Given the description of an element on the screen output the (x, y) to click on. 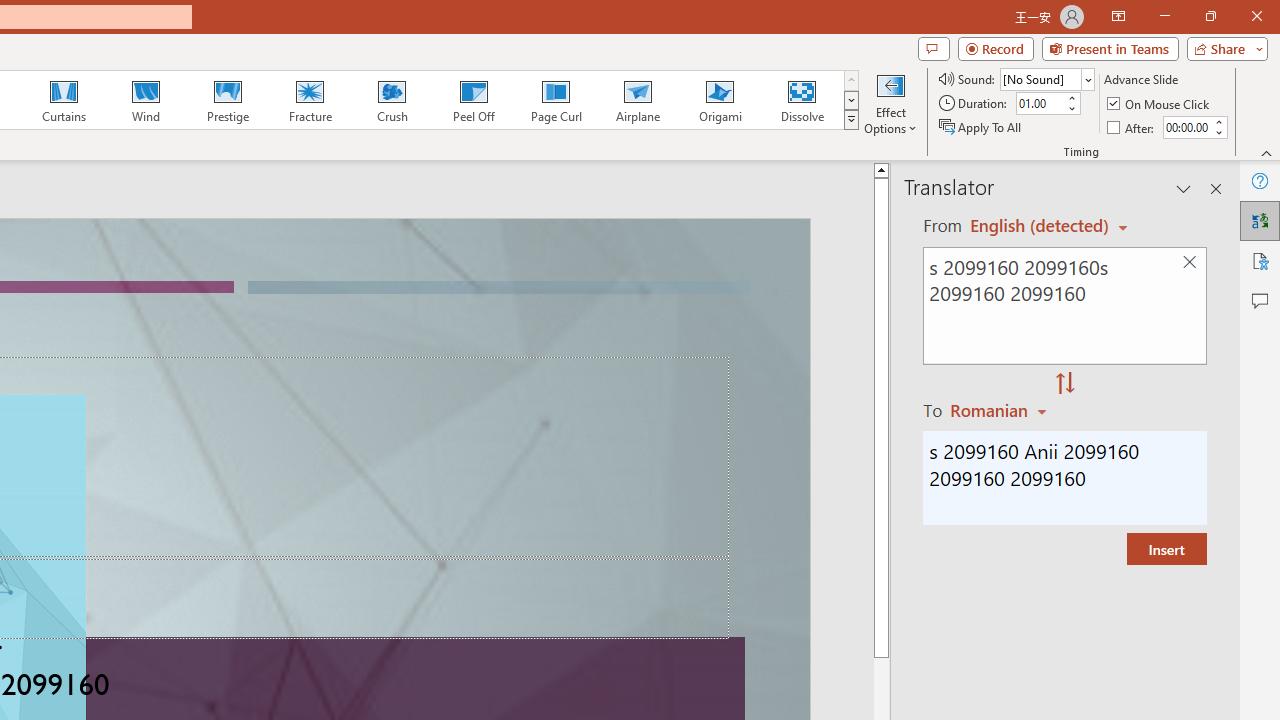
Clear text (1189, 262)
Prestige (227, 100)
Wind (145, 100)
Peel Off (473, 100)
Curtains (63, 100)
Page Curl (555, 100)
